Given the description of an element on the screen output the (x, y) to click on. 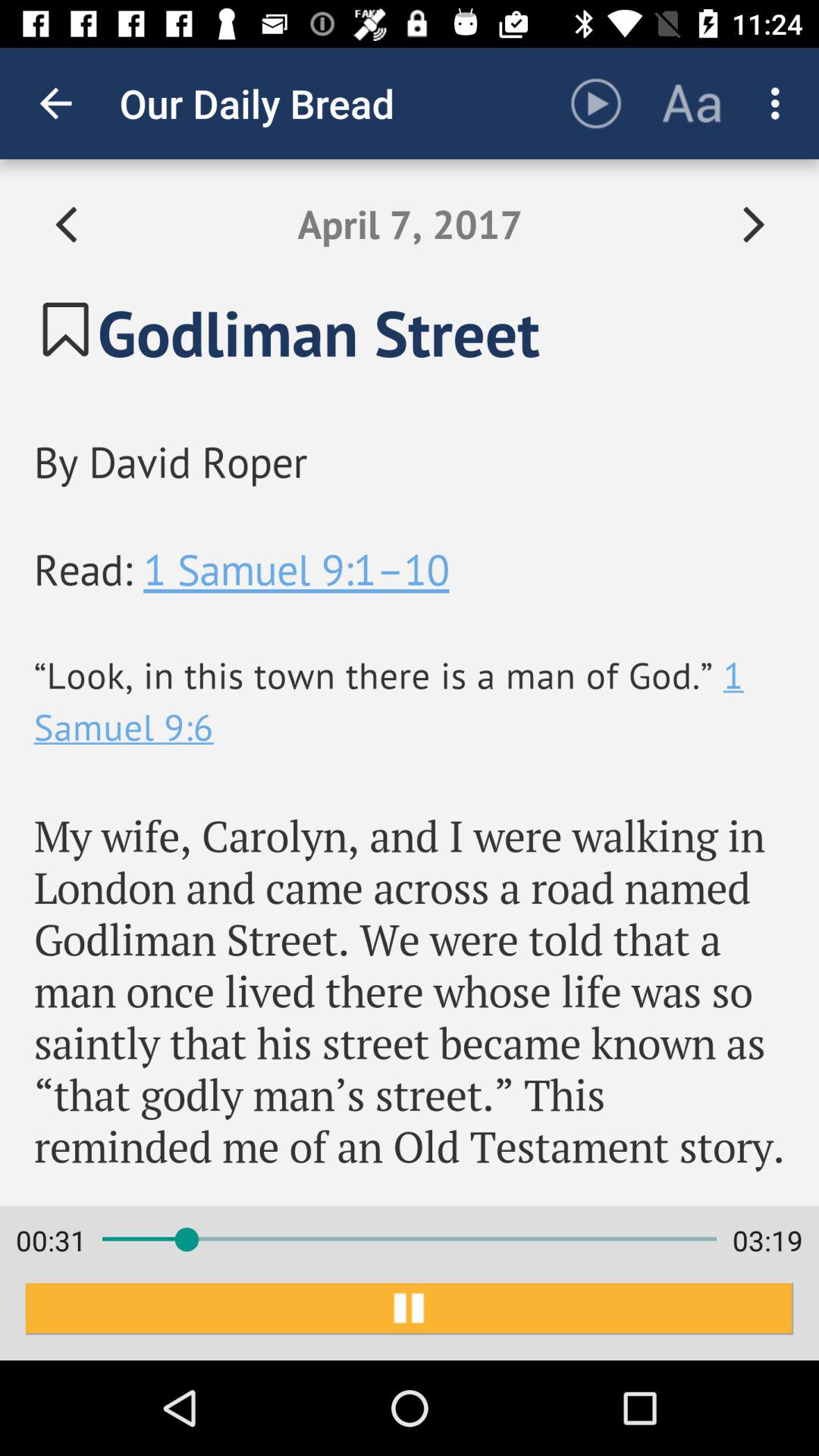
turn off the item above 00:32 (409, 682)
